Given the description of an element on the screen output the (x, y) to click on. 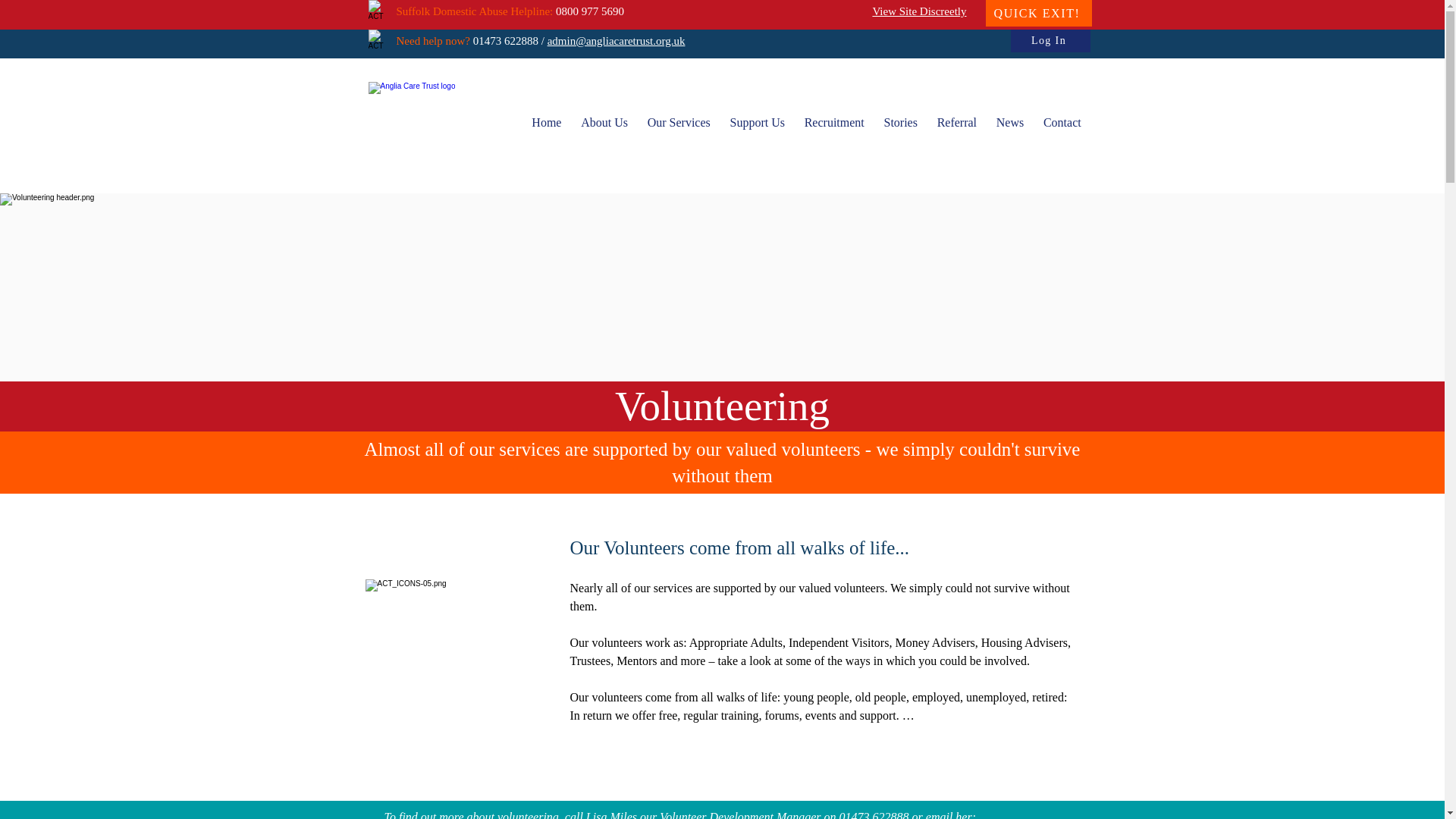
View Site Discreetly (919, 10)
About Us (603, 122)
Home (545, 122)
Our Services (678, 122)
Log In (1049, 40)
QUICK EXIT! (1038, 13)
